Given the description of an element on the screen output the (x, y) to click on. 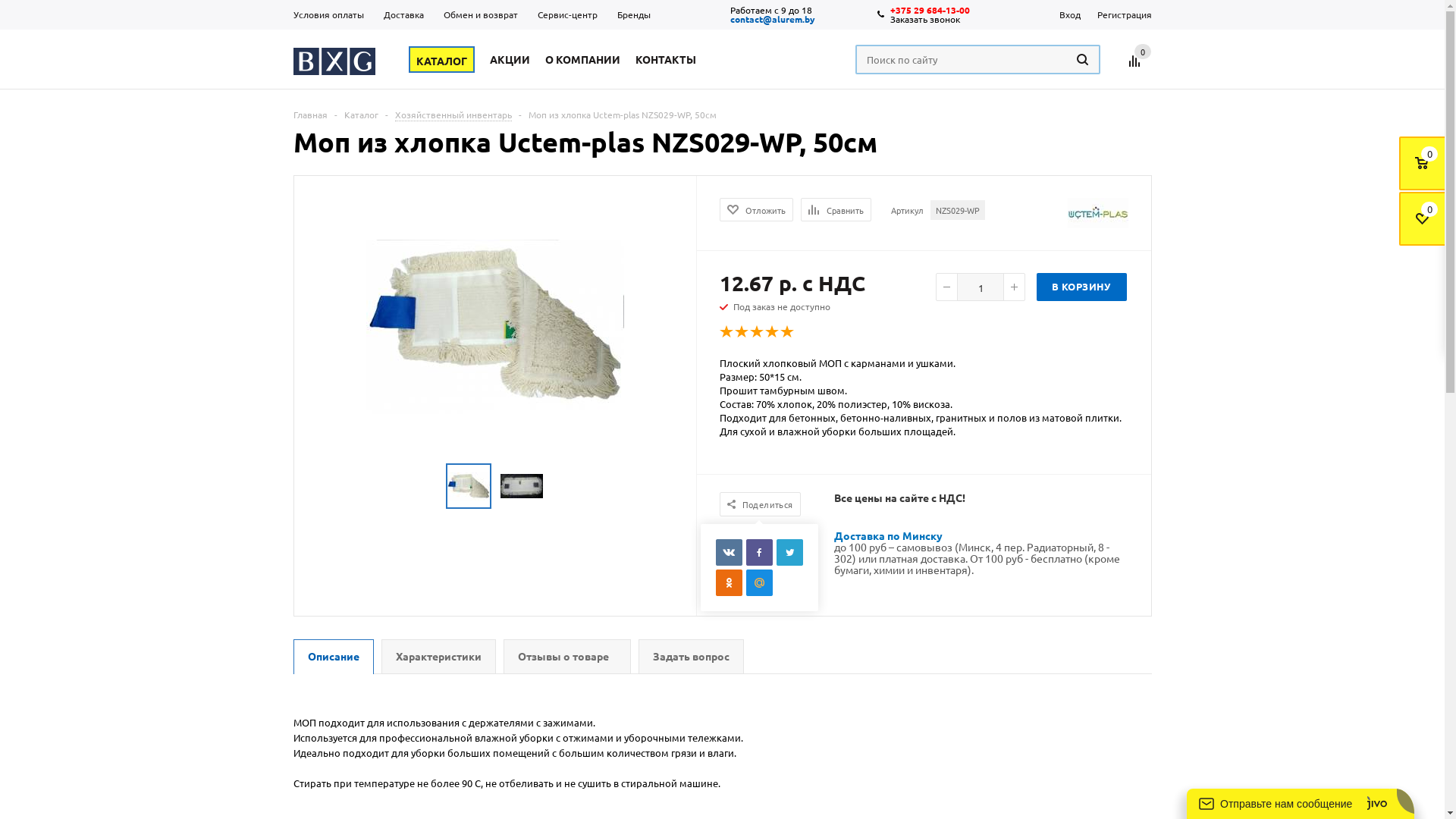
Twitter Element type: hover (789, 552)
4 Element type: hover (772, 331)
+375 29 684-13-00  Element type: text (931, 9)
2 Element type: hover (741, 331)
Facebook Element type: hover (759, 552)
0 Element type: text (1142, 51)
Uctem-Plas  Element type: hover (1097, 212)
5 Element type: hover (787, 331)
1 Element type: hover (726, 331)
contact@alurem.by Element type: text (771, 18)
3 Element type: hover (757, 331)
